Given the description of an element on the screen output the (x, y) to click on. 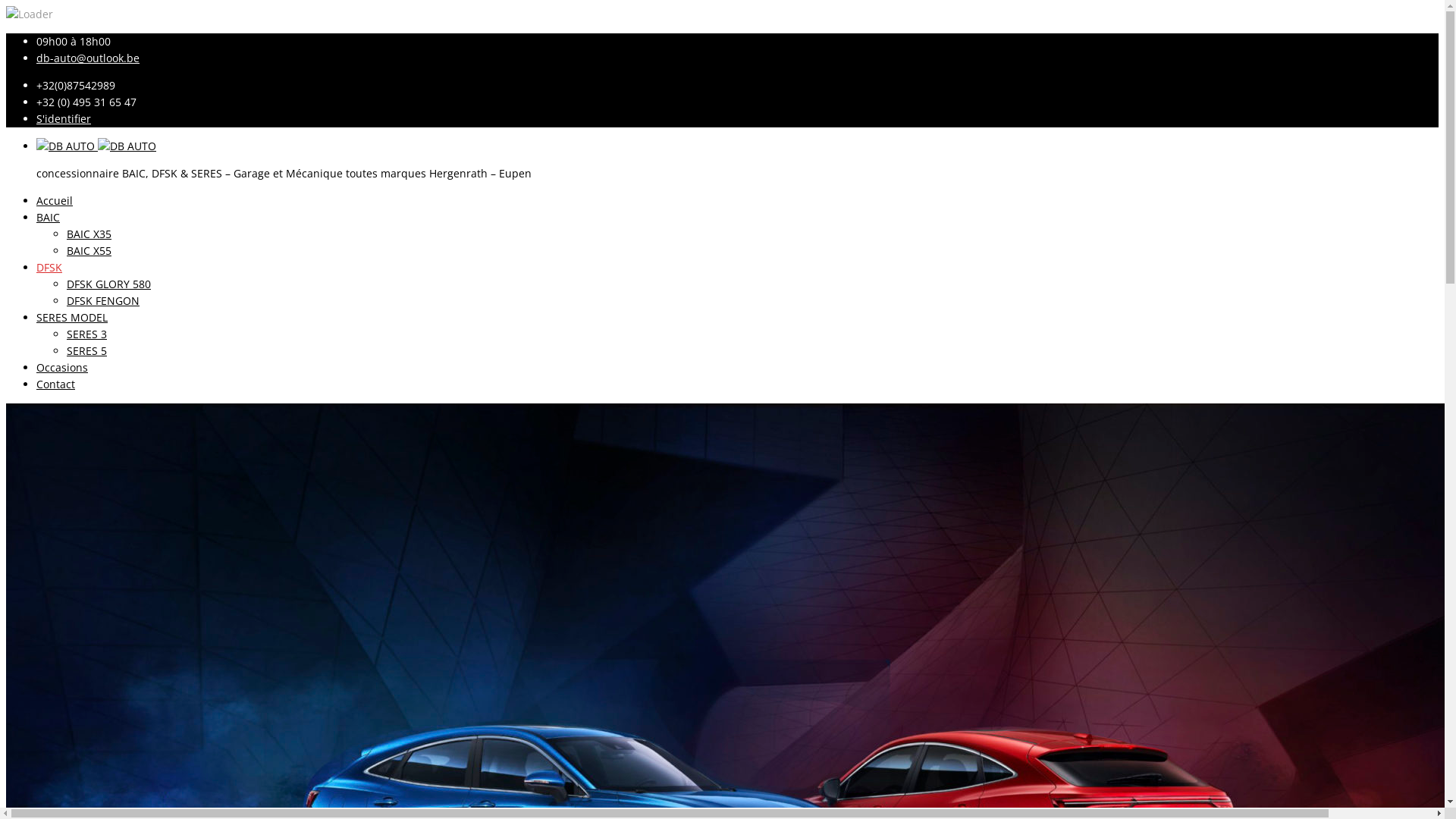
SERES MODEL Element type: text (71, 317)
SERES 3 Element type: text (86, 333)
DFSK GLORY 580 Element type: text (108, 283)
Accueil Element type: text (54, 200)
BAIC X35 Element type: text (88, 233)
BAIC X55 Element type: text (88, 250)
S'identifier Element type: text (63, 118)
Contact Element type: text (55, 383)
loading... Element type: hover (29, 14)
SERES 5 Element type: text (86, 350)
DFSK Element type: text (49, 267)
DFSK FENGON Element type: text (102, 300)
Occasions Element type: text (61, 367)
db-auto@outlook.be Element type: text (87, 57)
BAIC Element type: text (47, 217)
